Given the description of an element on the screen output the (x, y) to click on. 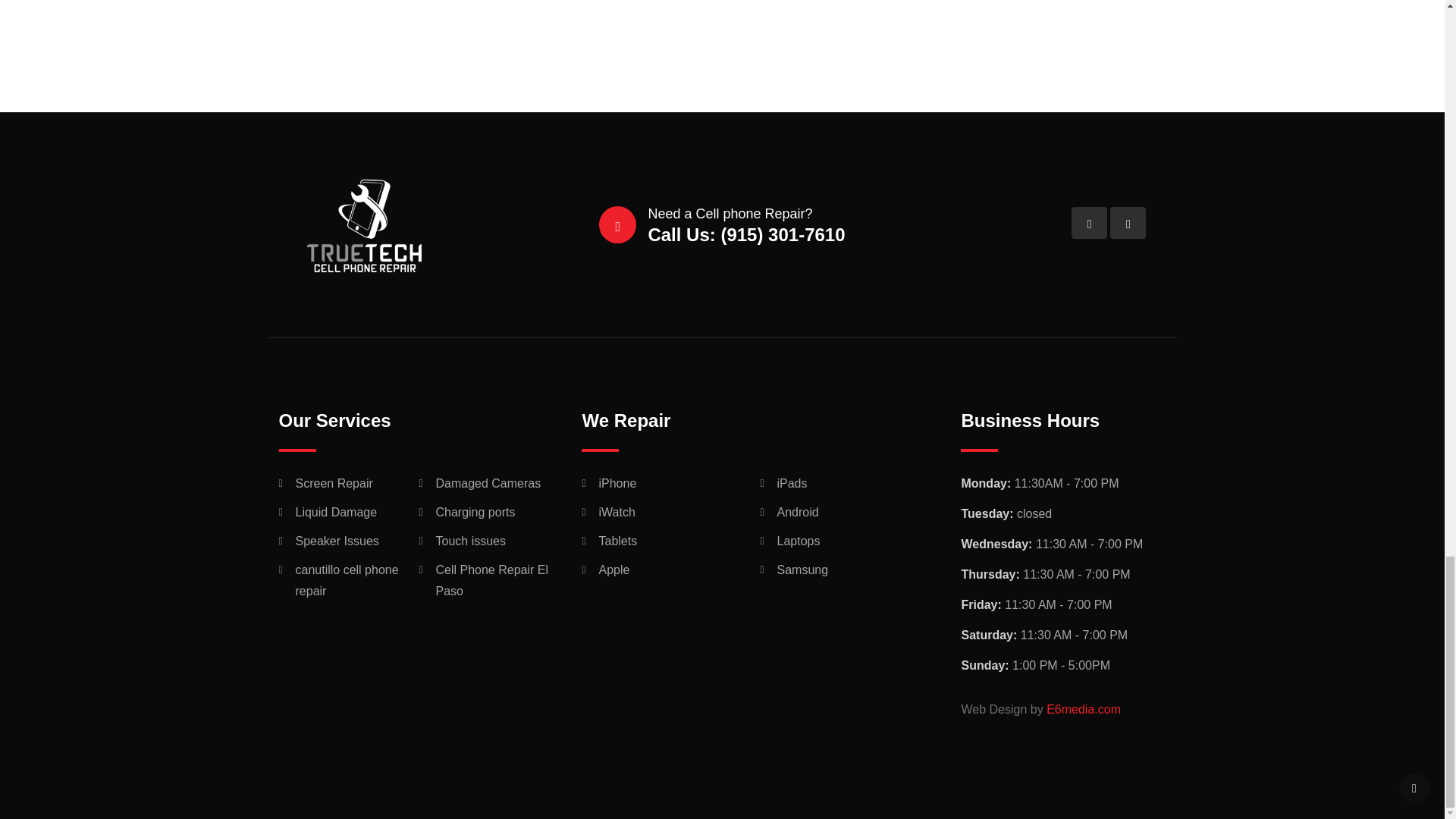
Tablets (617, 540)
iWatch (616, 512)
Touch issues (470, 540)
Cell Phone Repair El Paso (491, 580)
iPads (791, 483)
Screen Repair (333, 483)
canutillo cell phone repair (346, 580)
Android (797, 512)
Liquid Damage (336, 512)
iPhone (617, 483)
Speaker Issues (336, 540)
Charging ports (475, 512)
Damaged Cameras (487, 483)
Laptops (797, 540)
